Given the description of an element on the screen output the (x, y) to click on. 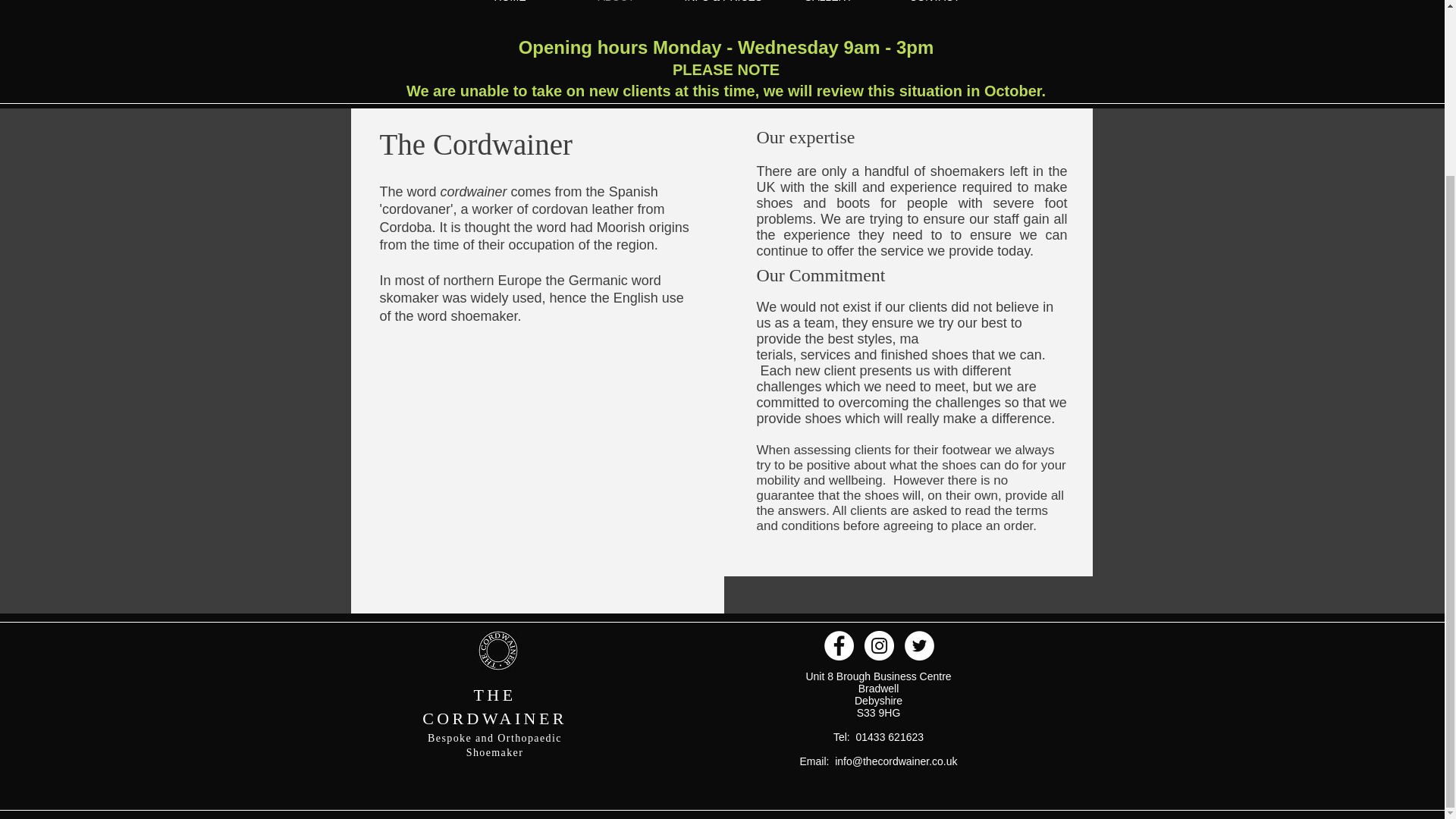
reverse rivet.jpg (496, 650)
HOME (509, 4)
GALLERY (827, 4)
ABOUT (615, 4)
CONTACT (933, 4)
